Given the description of an element on the screen output the (x, y) to click on. 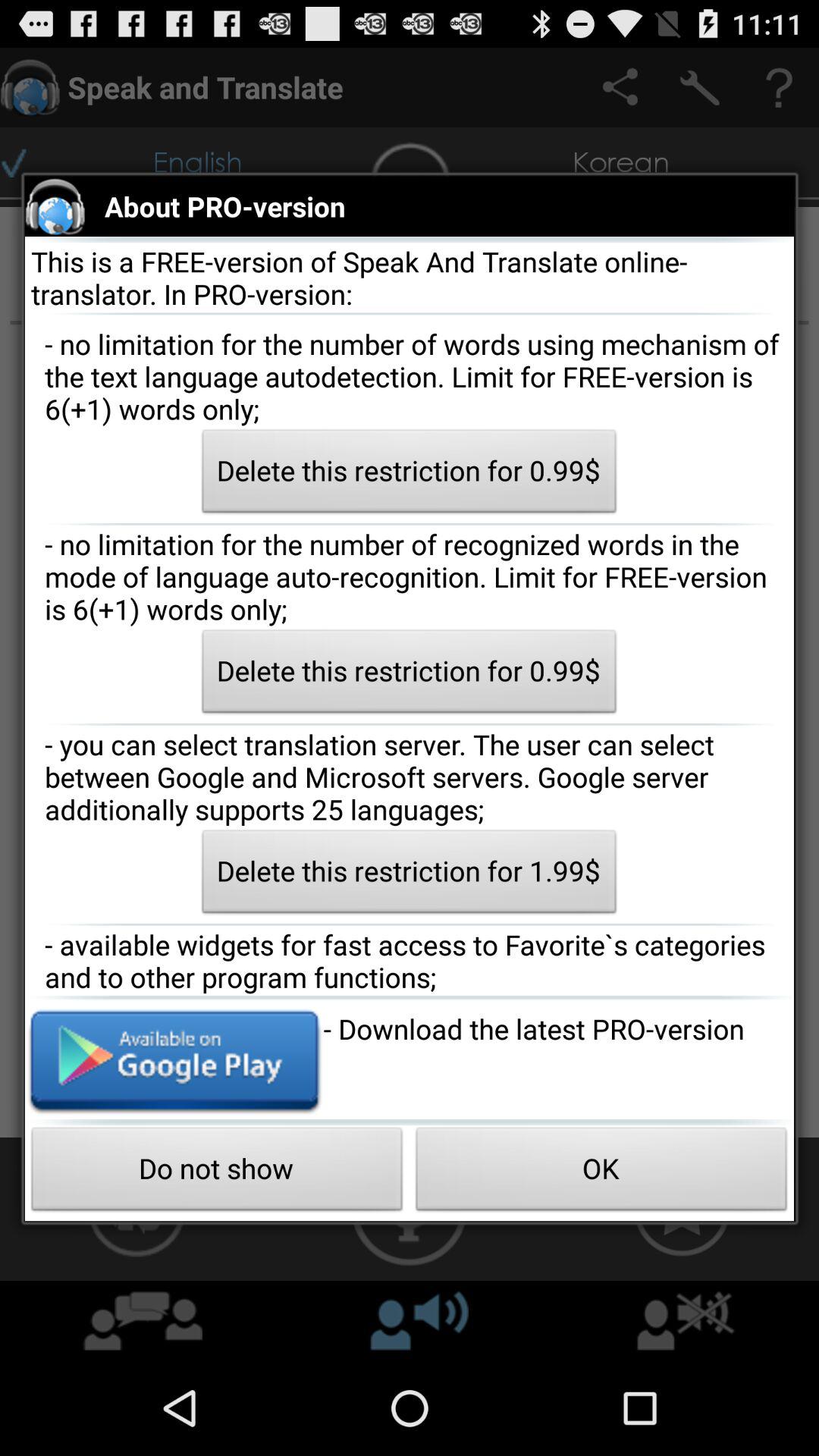
link to google play (174, 1059)
